Given the description of an element on the screen output the (x, y) to click on. 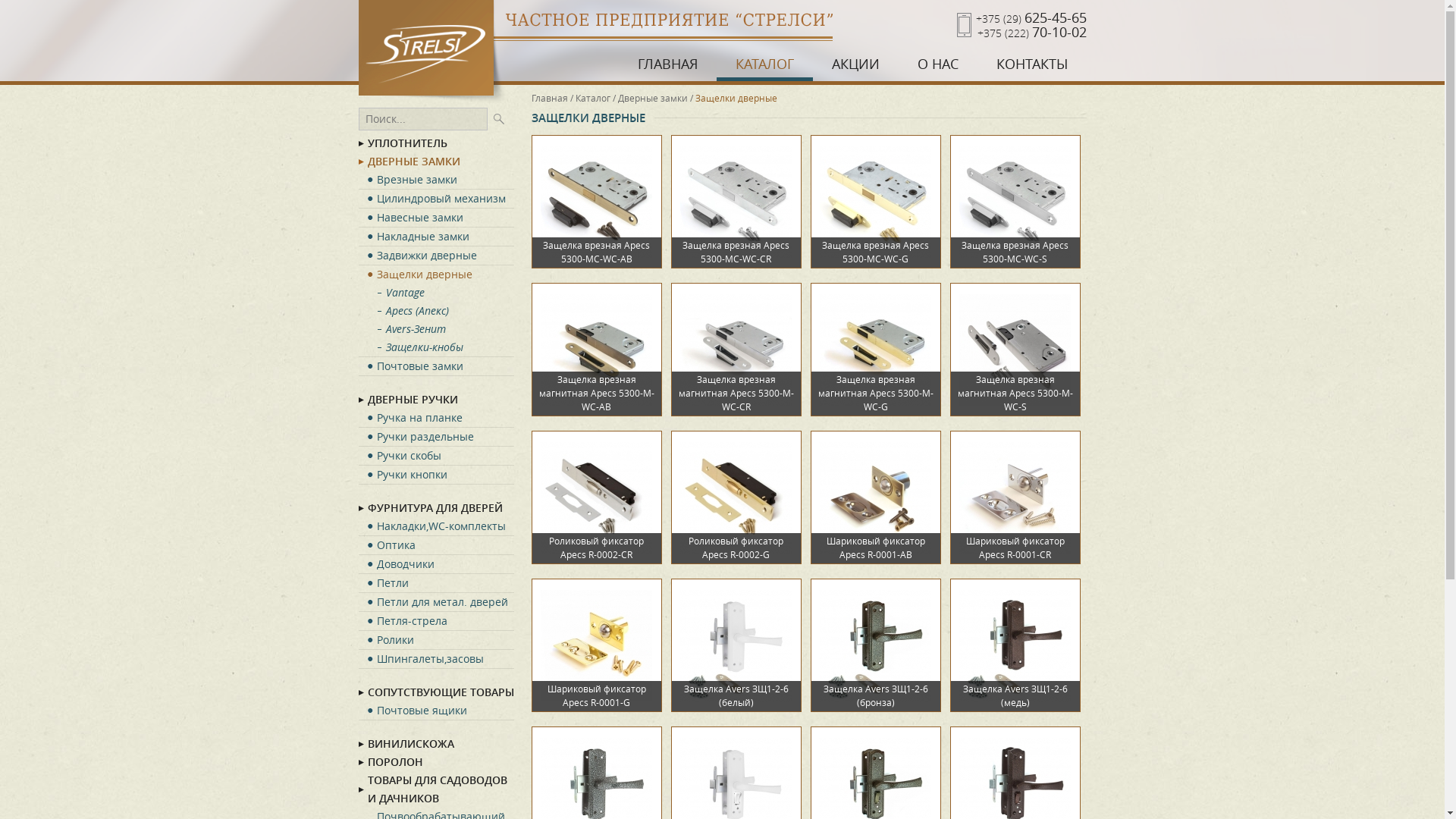
Ok Element type: text (497, 118)
Vantage Element type: text (444, 292)
